Given the description of an element on the screen output the (x, y) to click on. 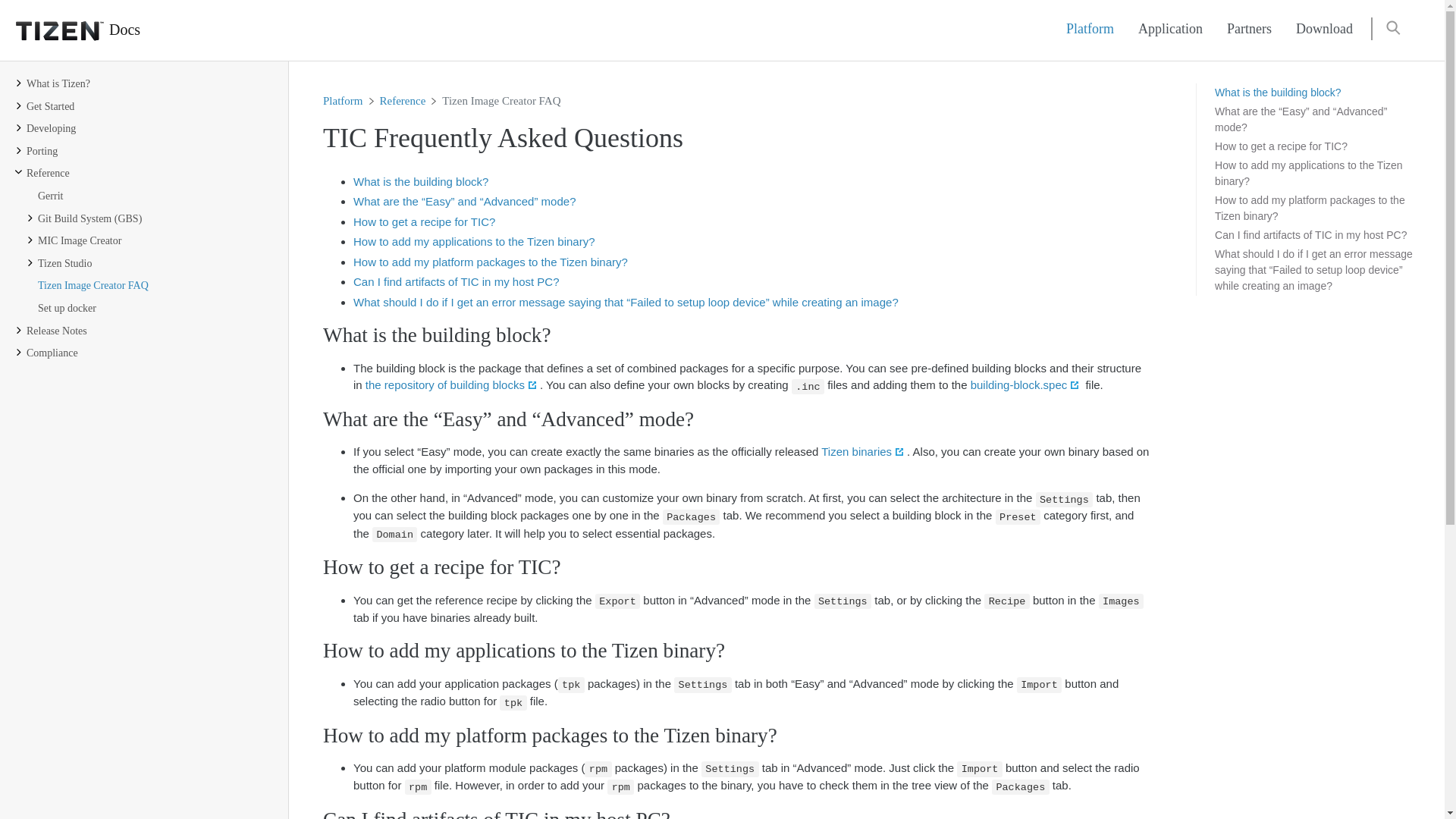
Application (1169, 29)
Download (1324, 29)
Platform (1089, 29)
Partners (1249, 29)
Docs (69, 30)
